Given the description of an element on the screen output the (x, y) to click on. 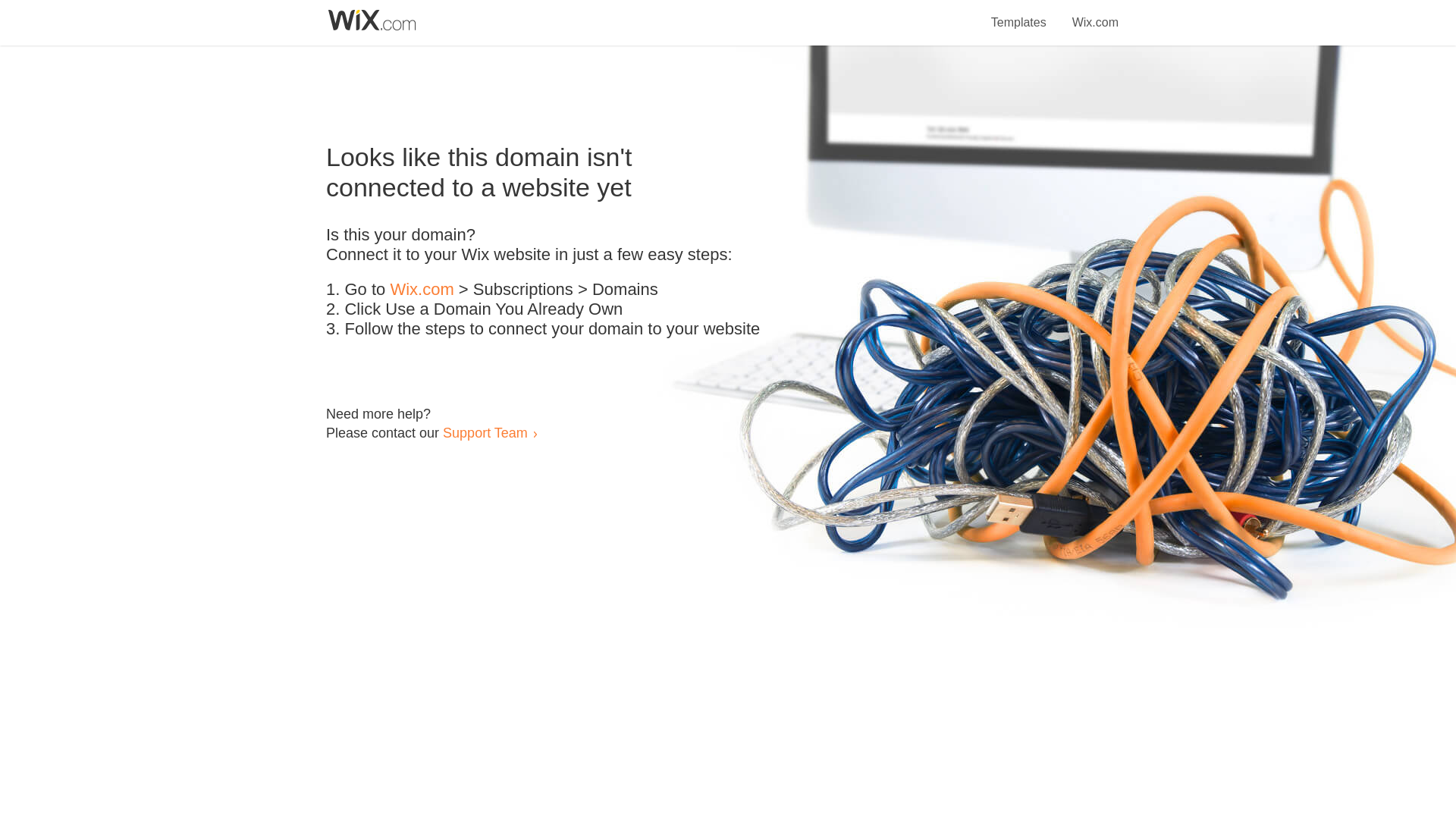
Support Team (484, 432)
Wix.com (421, 289)
Templates (1018, 14)
Wix.com (1095, 14)
